Given the description of an element on the screen output the (x, y) to click on. 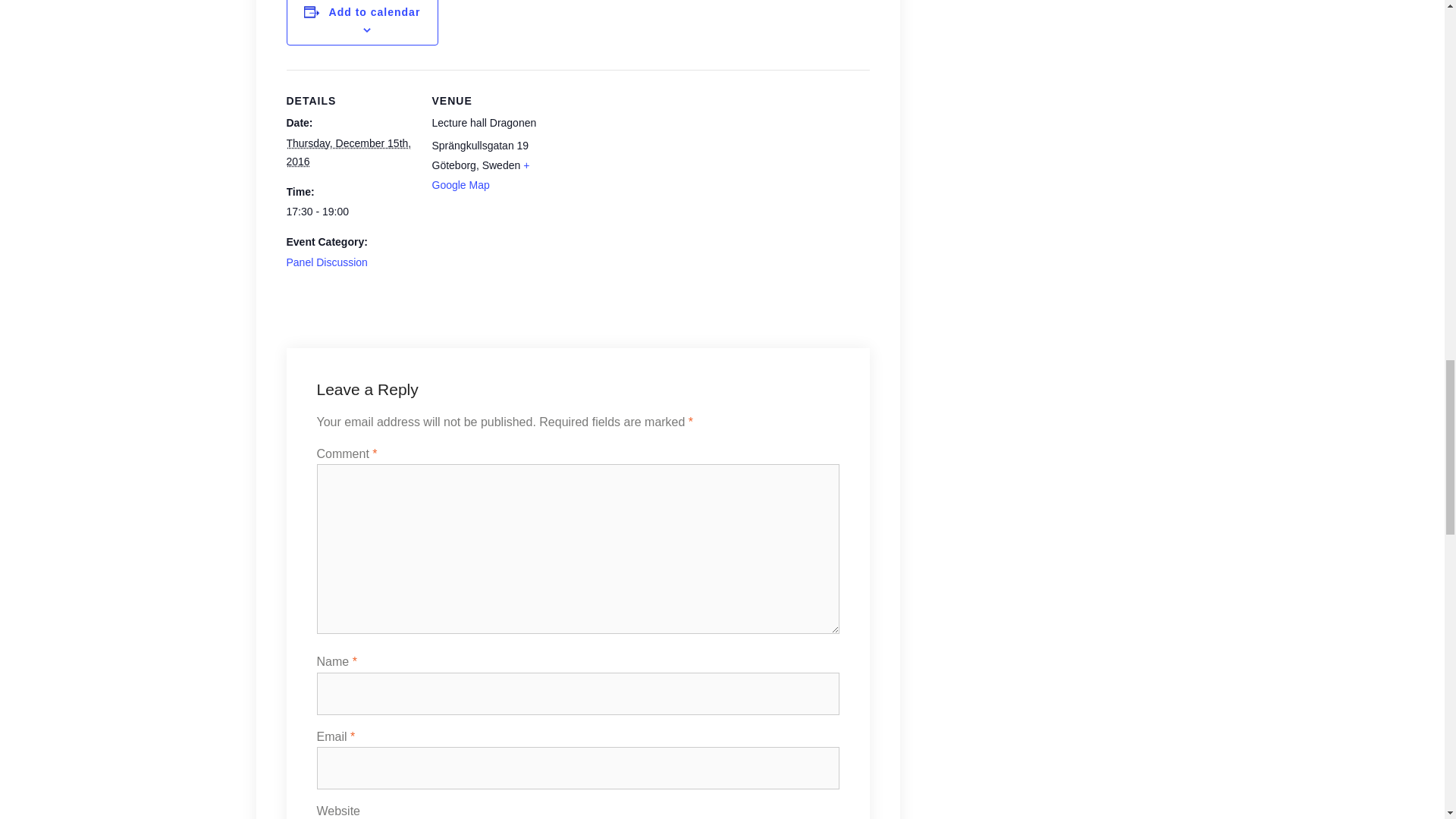
Add to calendar (374, 11)
Panel Discussion (327, 262)
Click to view a Google Map (480, 174)
2016-12-15 (349, 212)
2016-12-15 (349, 152)
